Given the description of an element on the screen output the (x, y) to click on. 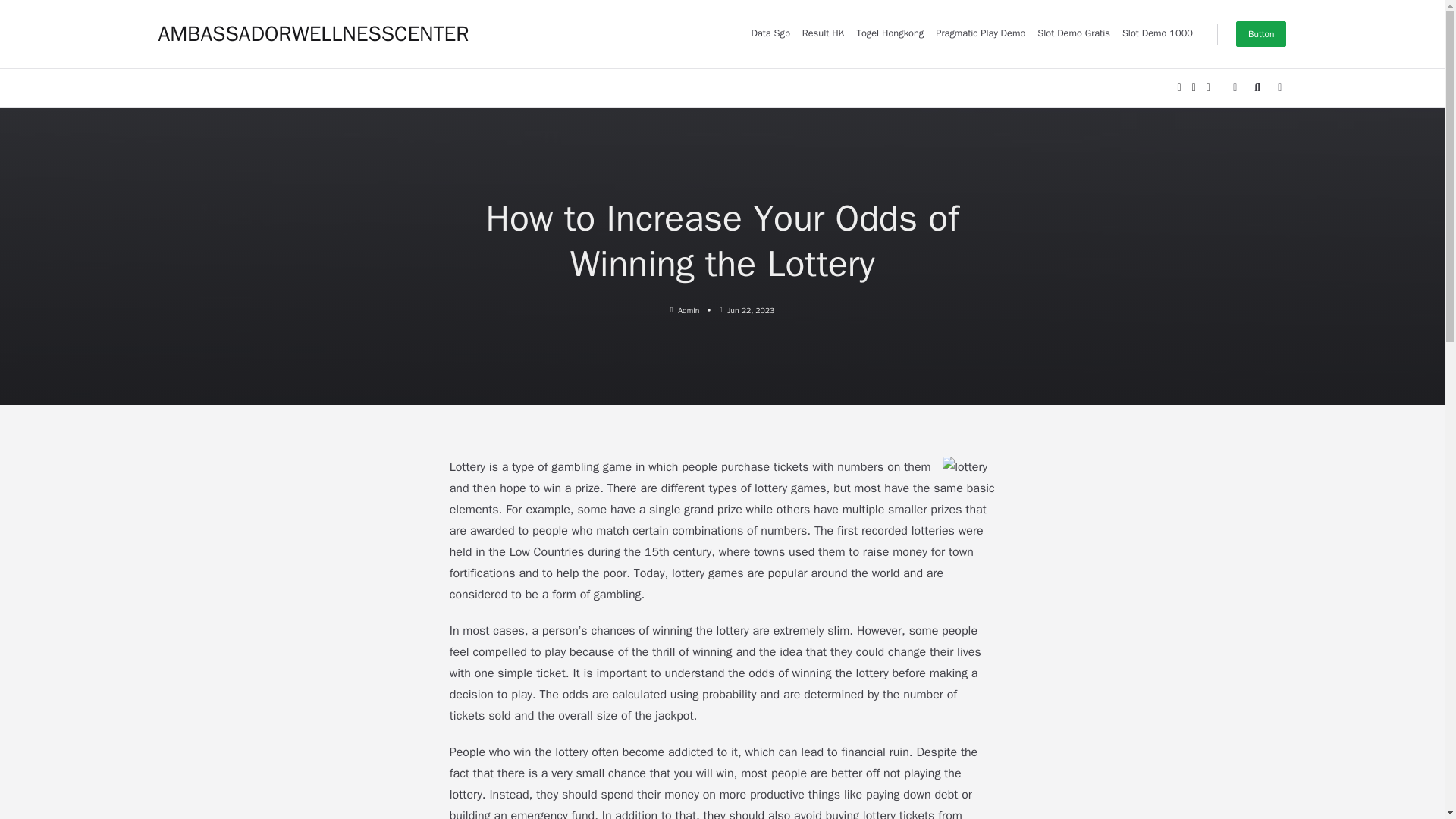
AMBASSADORWELLNESSCENTER (312, 33)
Slot Demo 1000 (1157, 33)
Togel Hongkong (890, 33)
Button (1261, 33)
Result HK (823, 33)
Jun 22, 2023 (750, 310)
Slot Demo Gratis (1073, 33)
Pragmatic Play Demo (980, 33)
Data Sgp (769, 33)
Admin (688, 310)
